Given the description of an element on the screen output the (x, y) to click on. 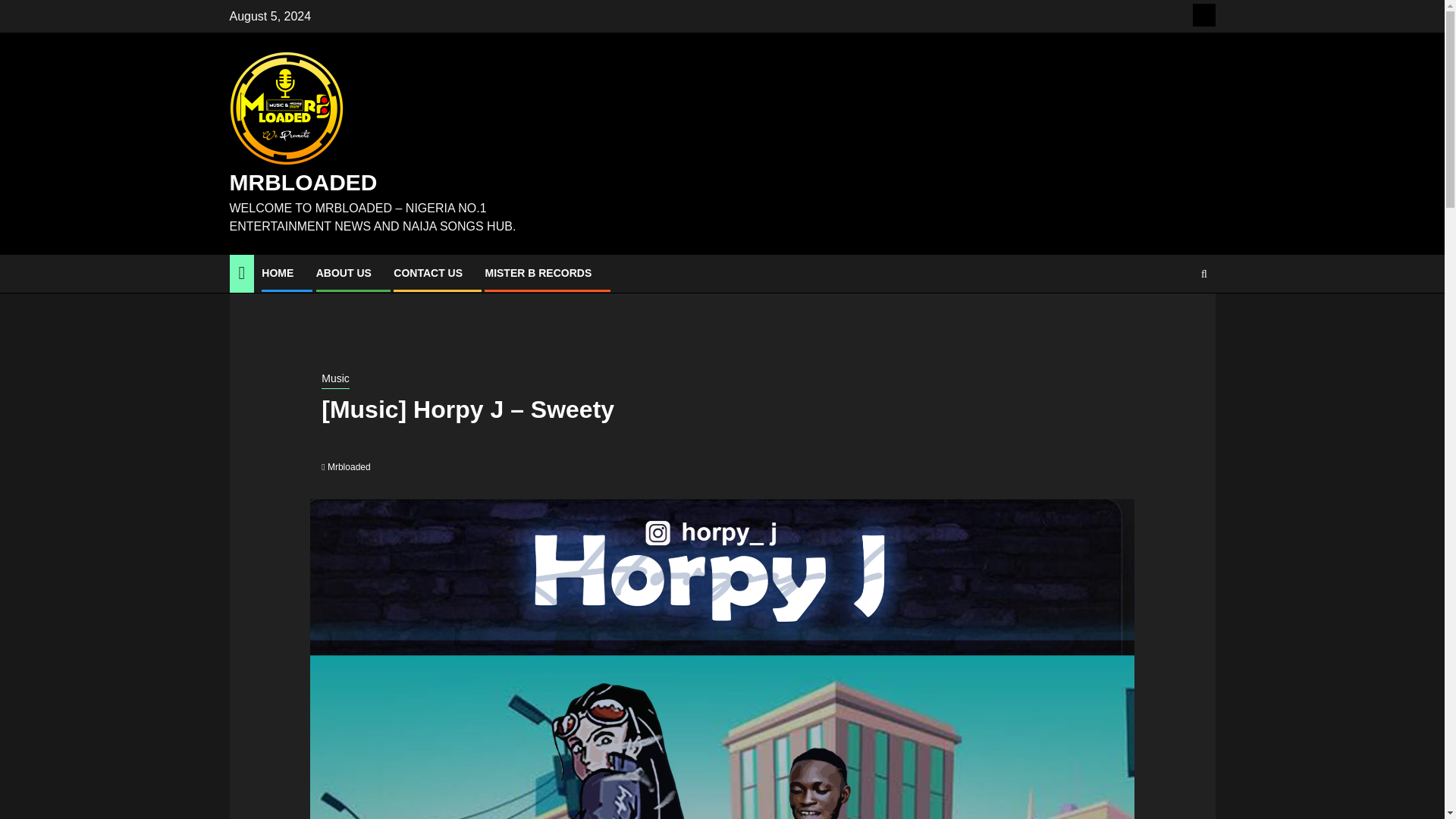
HOME (278, 272)
MRBLOADED (302, 181)
Search (1174, 319)
Search (1204, 273)
ABOUT US (343, 272)
Music (335, 380)
CONTACT US (428, 272)
Mrbloaded (349, 466)
MISTER B RECORDS (537, 272)
